Given the description of an element on the screen output the (x, y) to click on. 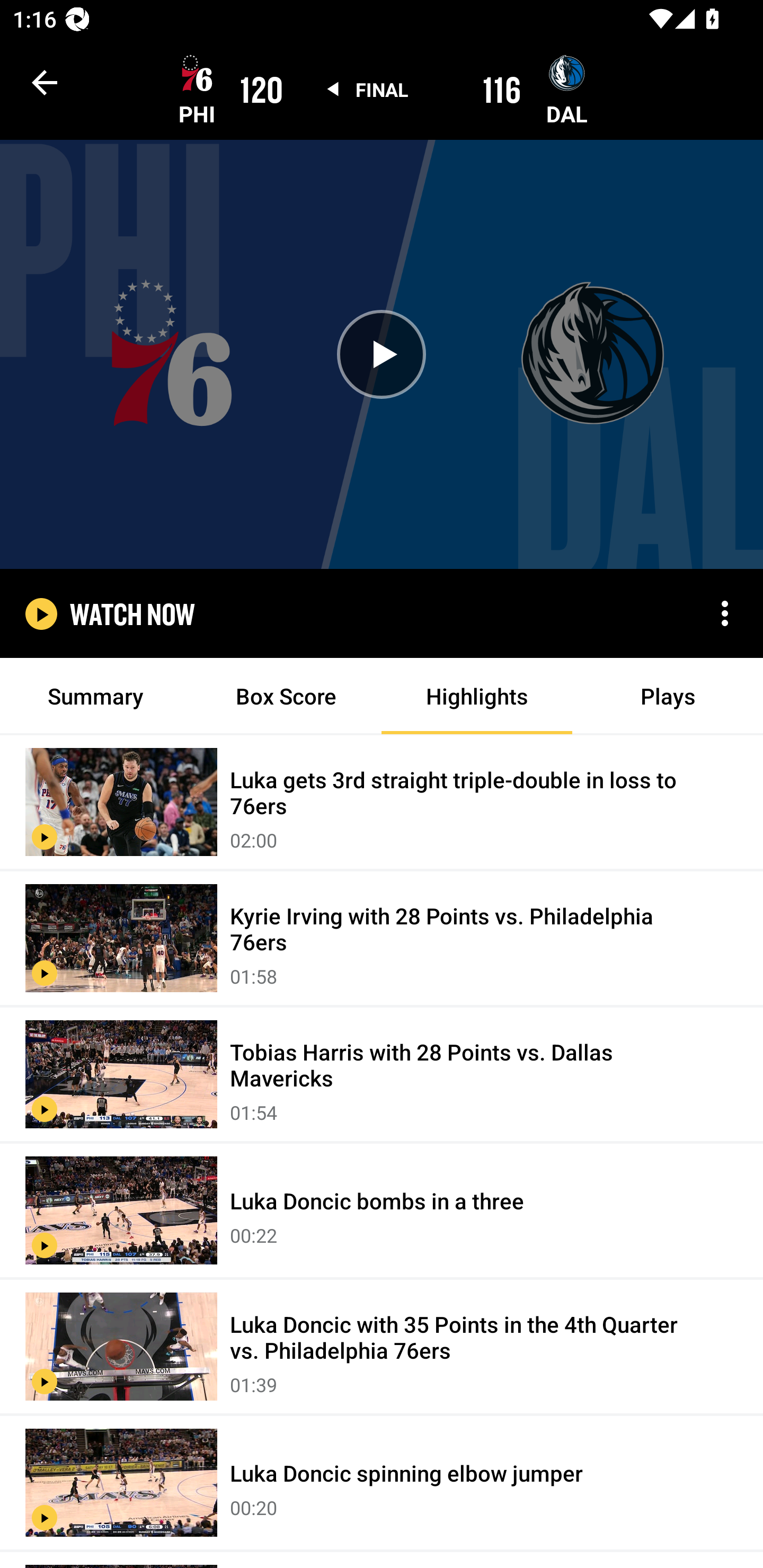
Navigate up (44, 82)
More options (724, 613)
WATCH NOW (132, 613)
Summary (95, 695)
Box Score (285, 695)
Plays (667, 695)
Luka Doncic bombs in a three 00:22 (381, 1211)
Luka Doncic spinning elbow jumper 00:20 (381, 1482)
